Given the description of an element on the screen output the (x, y) to click on. 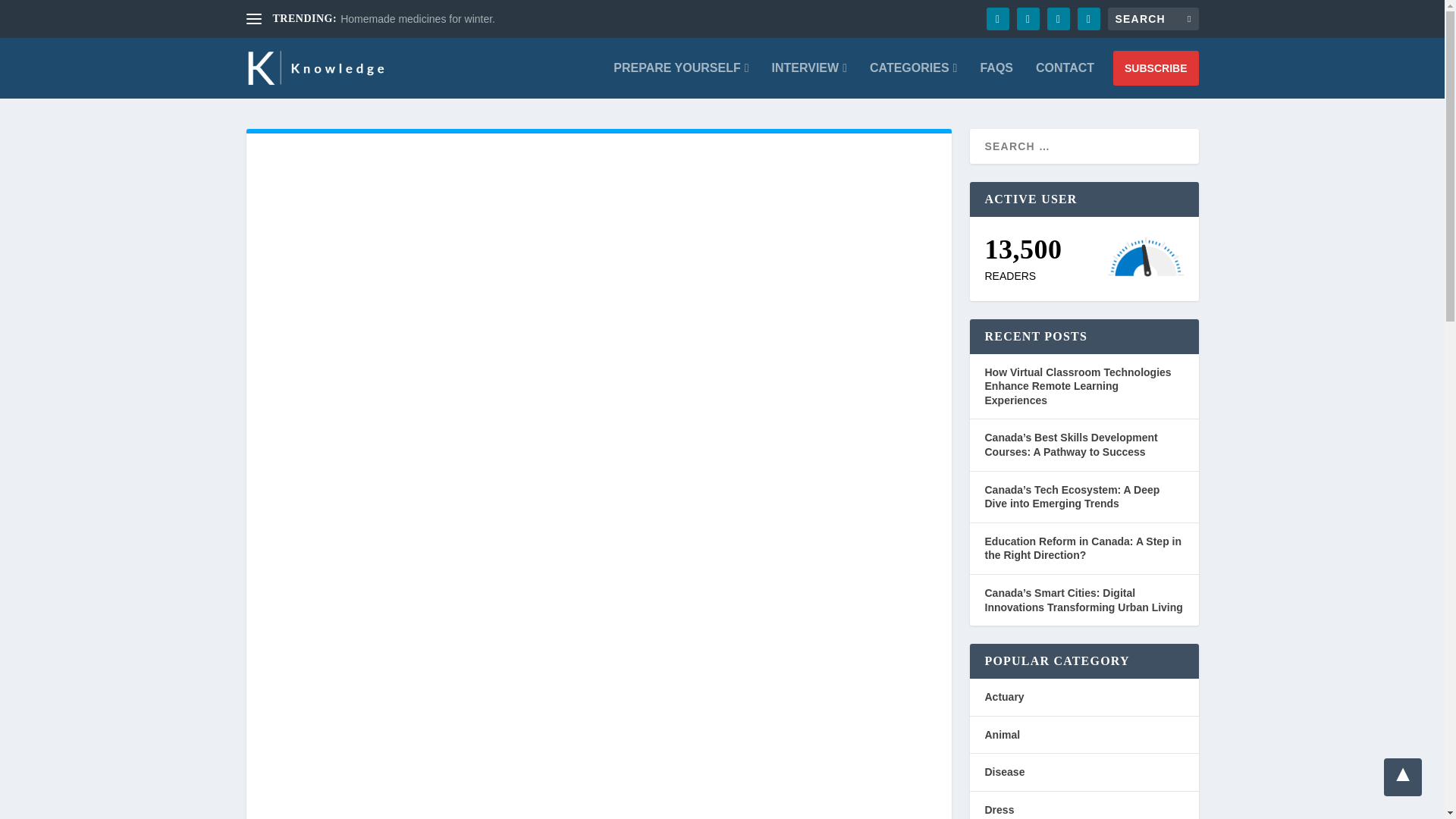
Actuary (1003, 696)
FAQS (996, 80)
Homemade medicines for winter. (417, 19)
Dress (998, 809)
PREPARE YOURSELF (680, 80)
SUBSCRIBE (1155, 67)
Education Reform in Canada: A Step in the Right Direction? (1082, 548)
Search for: (1152, 18)
Disease (1004, 771)
Animal (1002, 734)
